Given the description of an element on the screen output the (x, y) to click on. 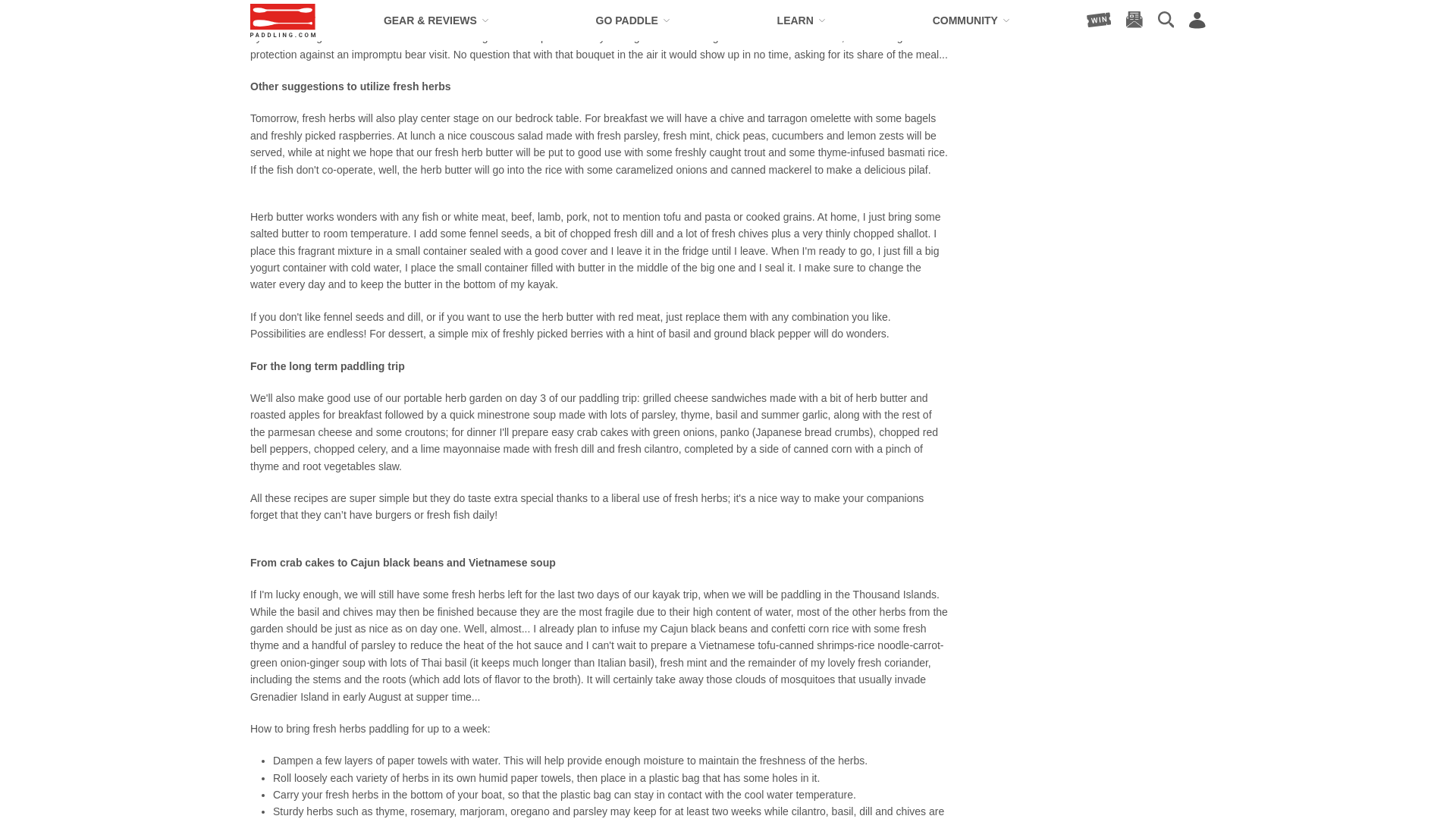
3rd party ad content (1091, 10)
